Given the description of an element on the screen output the (x, y) to click on. 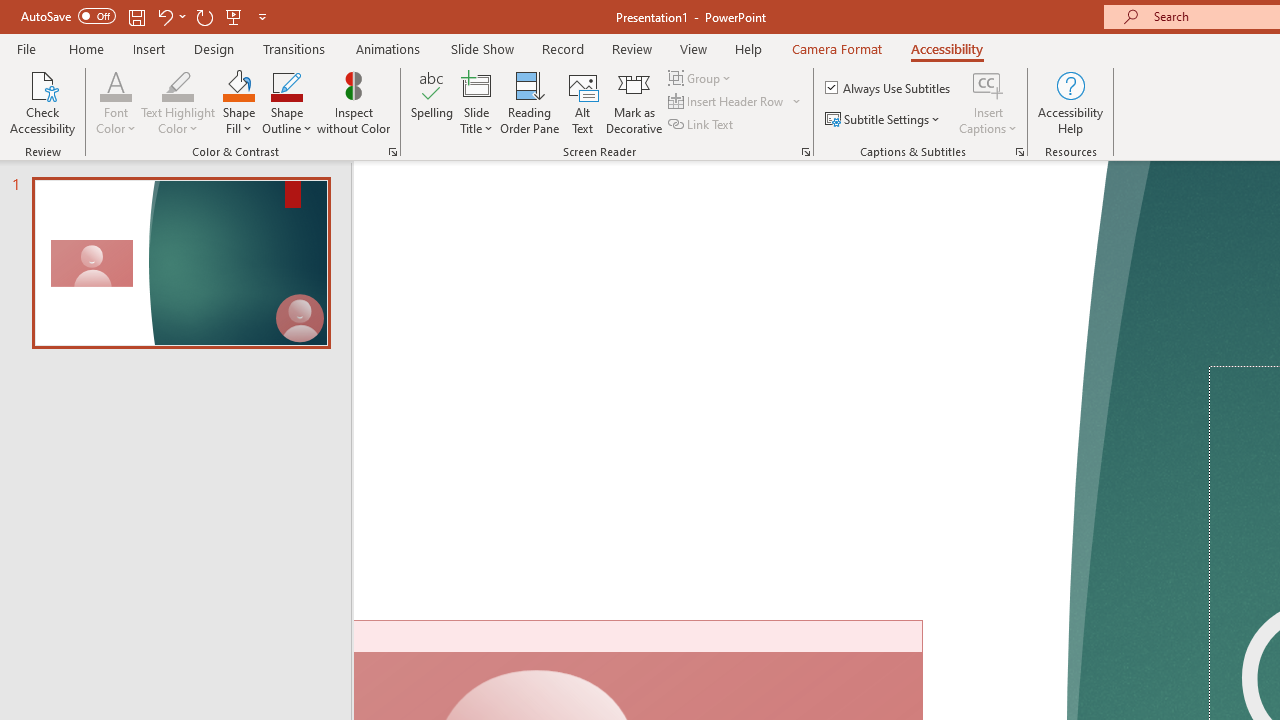
Subtitle Settings (884, 119)
Reading Order Pane (529, 102)
Link Text (702, 124)
Always Use Subtitles (889, 87)
Camera Format (836, 48)
Color & Contrast (392, 151)
Captions & Subtitles (1019, 151)
